Given the description of an element on the screen output the (x, y) to click on. 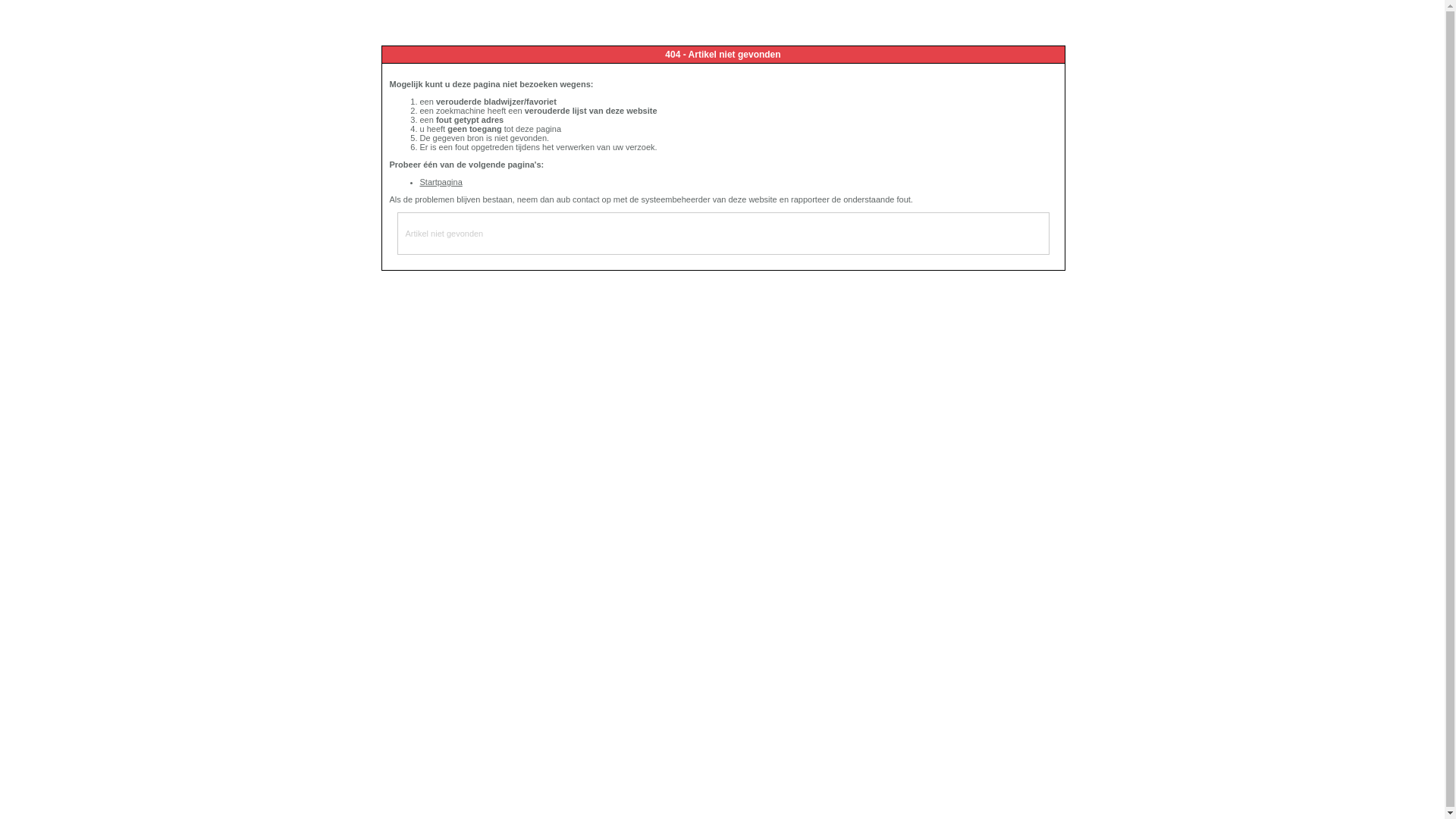
Startpagina Element type: text (441, 181)
